Given the description of an element on the screen output the (x, y) to click on. 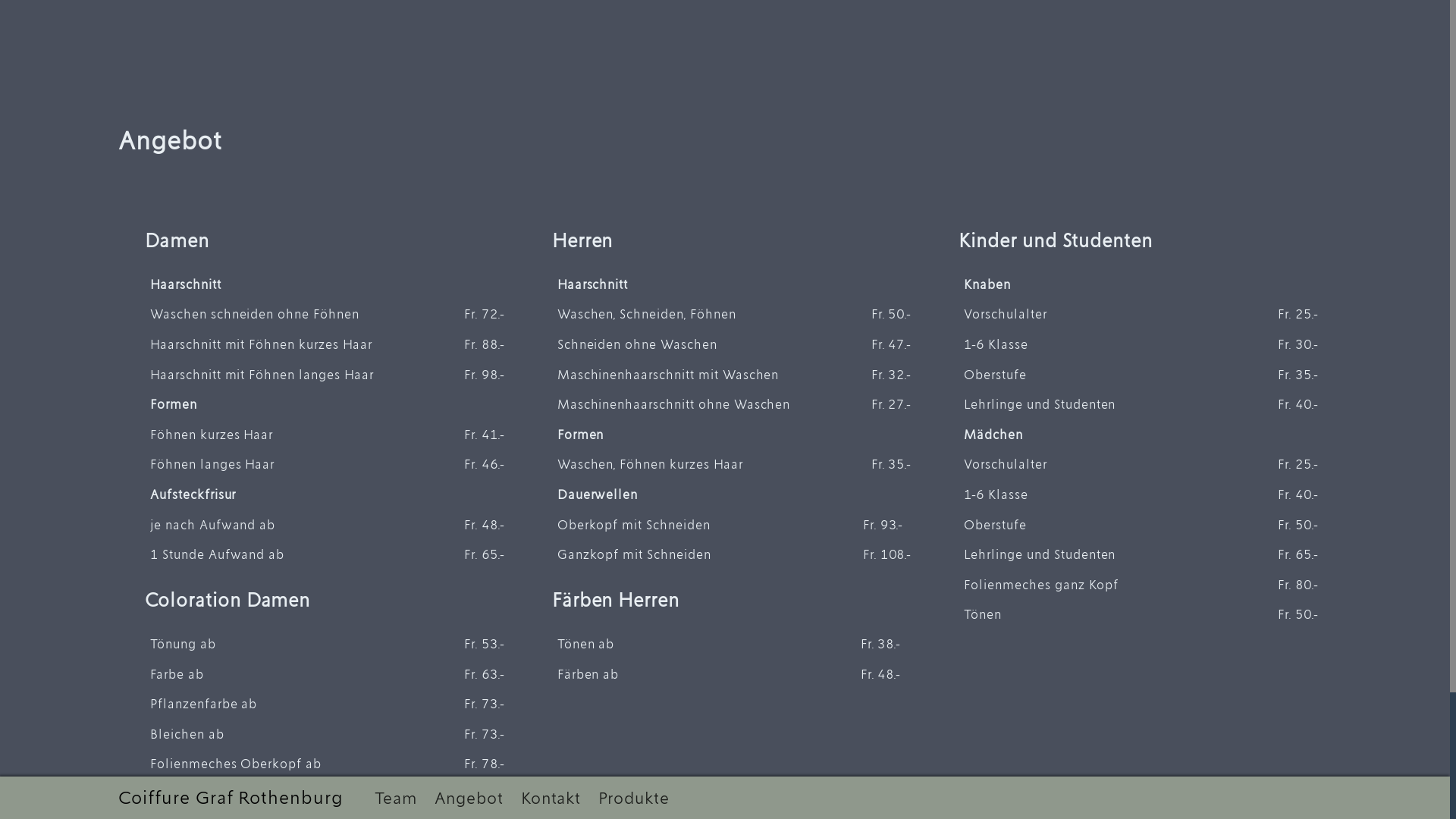
Kontakt Element type: text (550, 797)
Coiffure Graf Rothenburg Element type: text (230, 797)
Produkte Element type: text (633, 797)
Team Element type: text (395, 797)
Angebot Element type: text (468, 797)
